Given the description of an element on the screen output the (x, y) to click on. 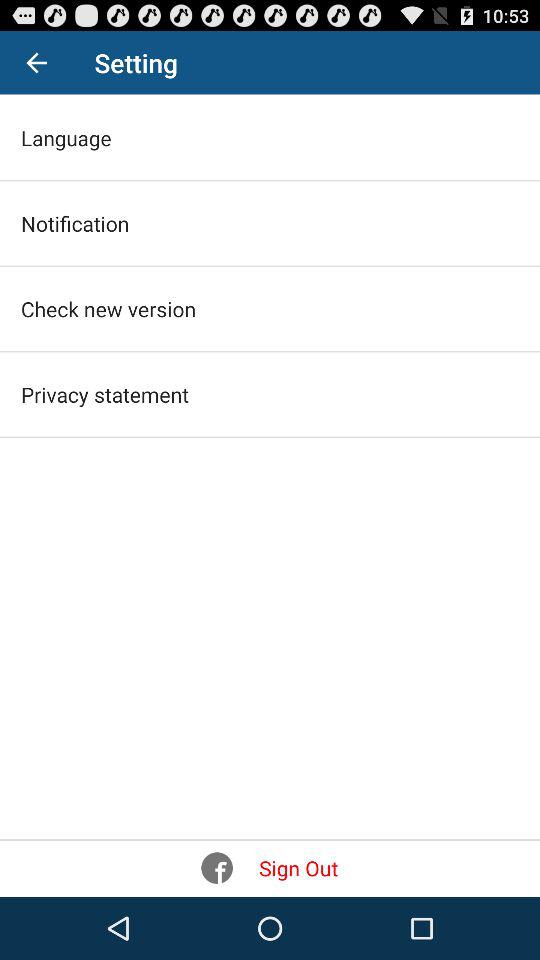
turn off item below check new version item (104, 394)
